Given the description of an element on the screen output the (x, y) to click on. 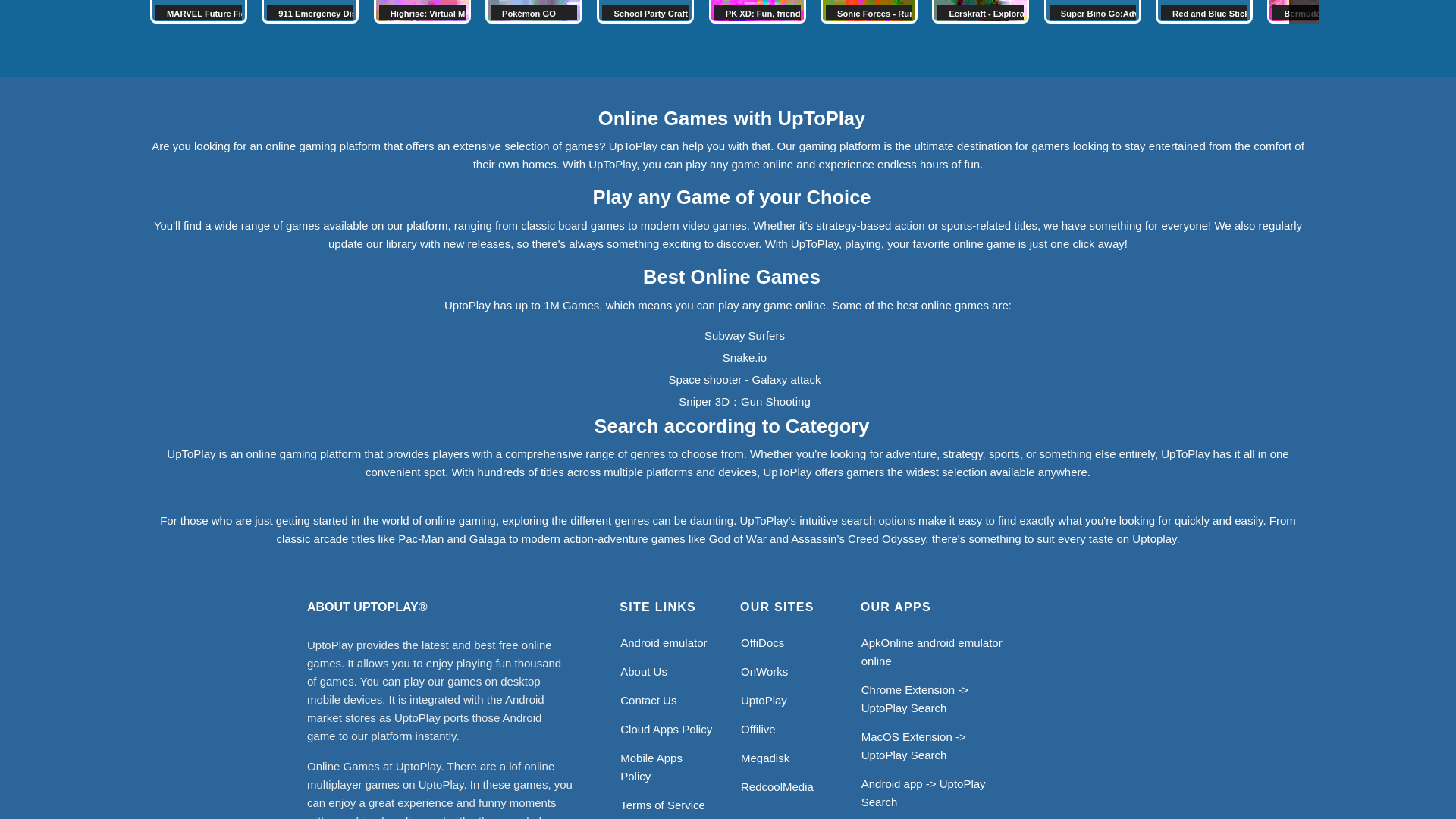
Play Space shooter - Galaxy attack game online (744, 379)
Play Subway Surfers game online (744, 335)
